Given the description of an element on the screen output the (x, y) to click on. 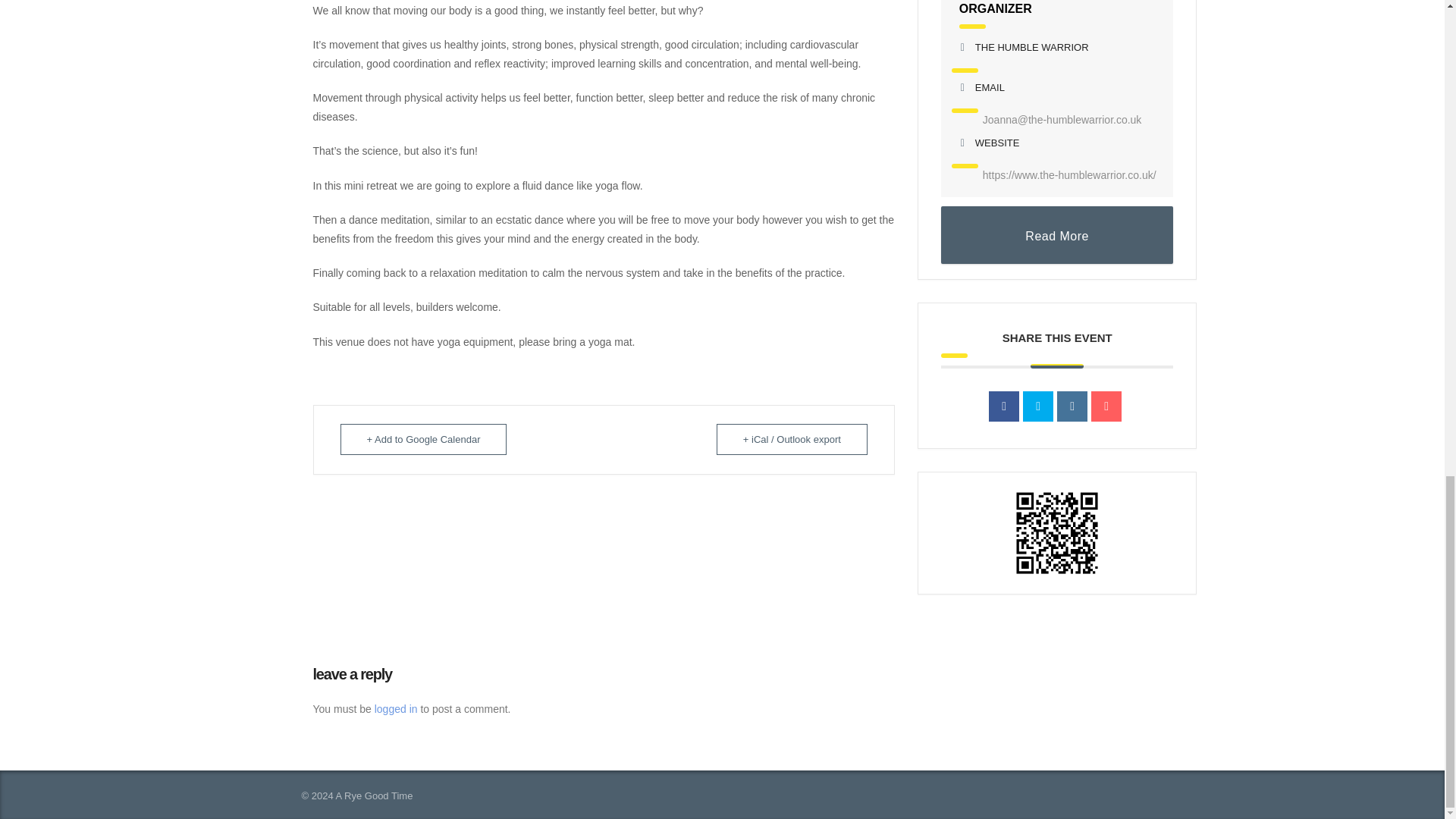
logged in (395, 708)
Read More (1056, 234)
Linkedin (1072, 406)
Share on Facebook (1003, 406)
Tweet (1037, 406)
Email (1105, 406)
